Given the description of an element on the screen output the (x, y) to click on. 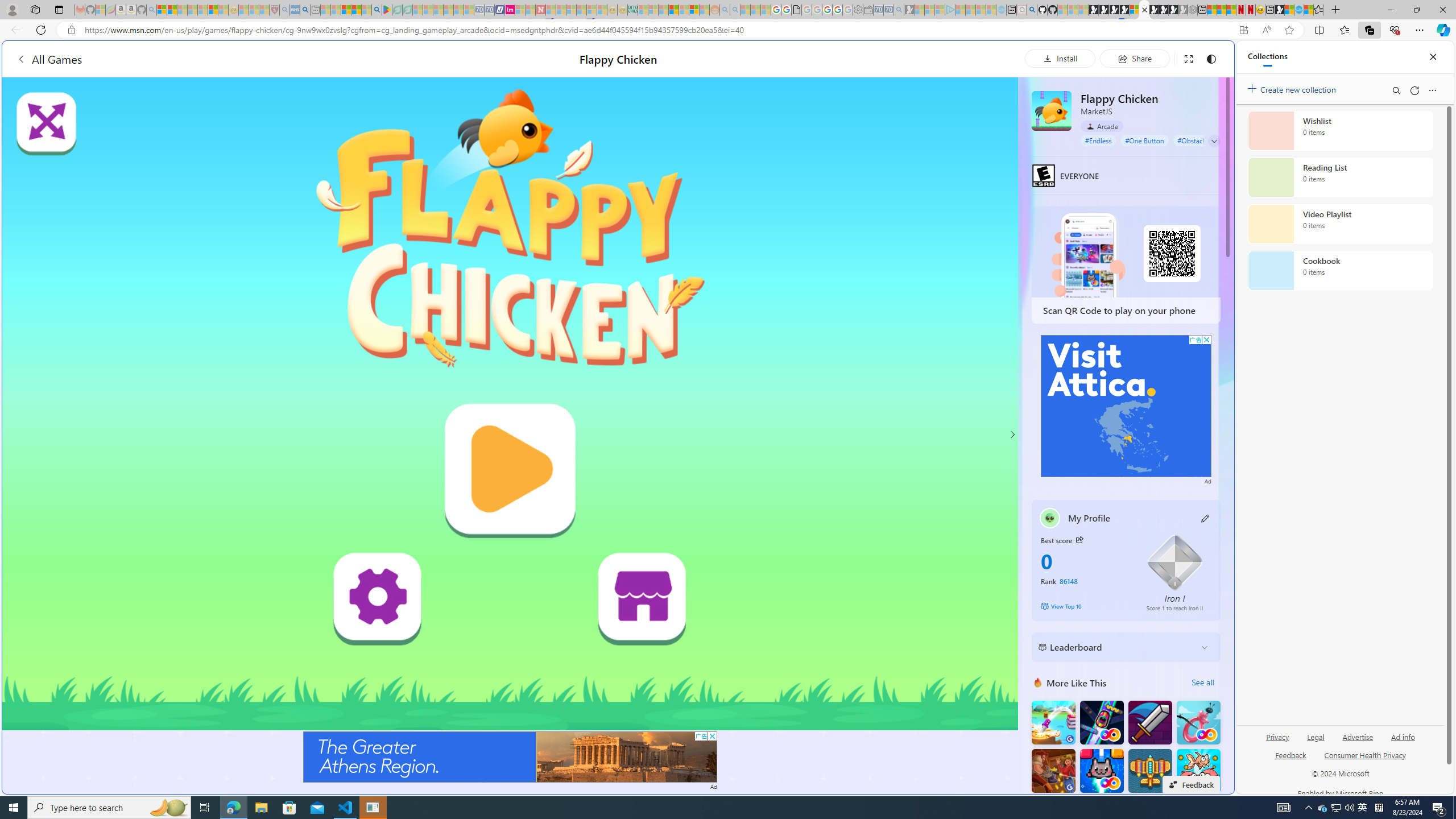
Pets - MSN (356, 9)
Wishlist collection, 0 items (1339, 130)
Settings - Sleeping (857, 9)
utah sues federal government - Search (304, 9)
Knife Flip (1053, 722)
Saloon Robbery (1053, 770)
Play Cave FRVR in your browser | Games from Microsoft Start (922, 242)
google_privacy_policy_zh-CN.pdf (1118, 683)
